Given the description of an element on the screen output the (x, y) to click on. 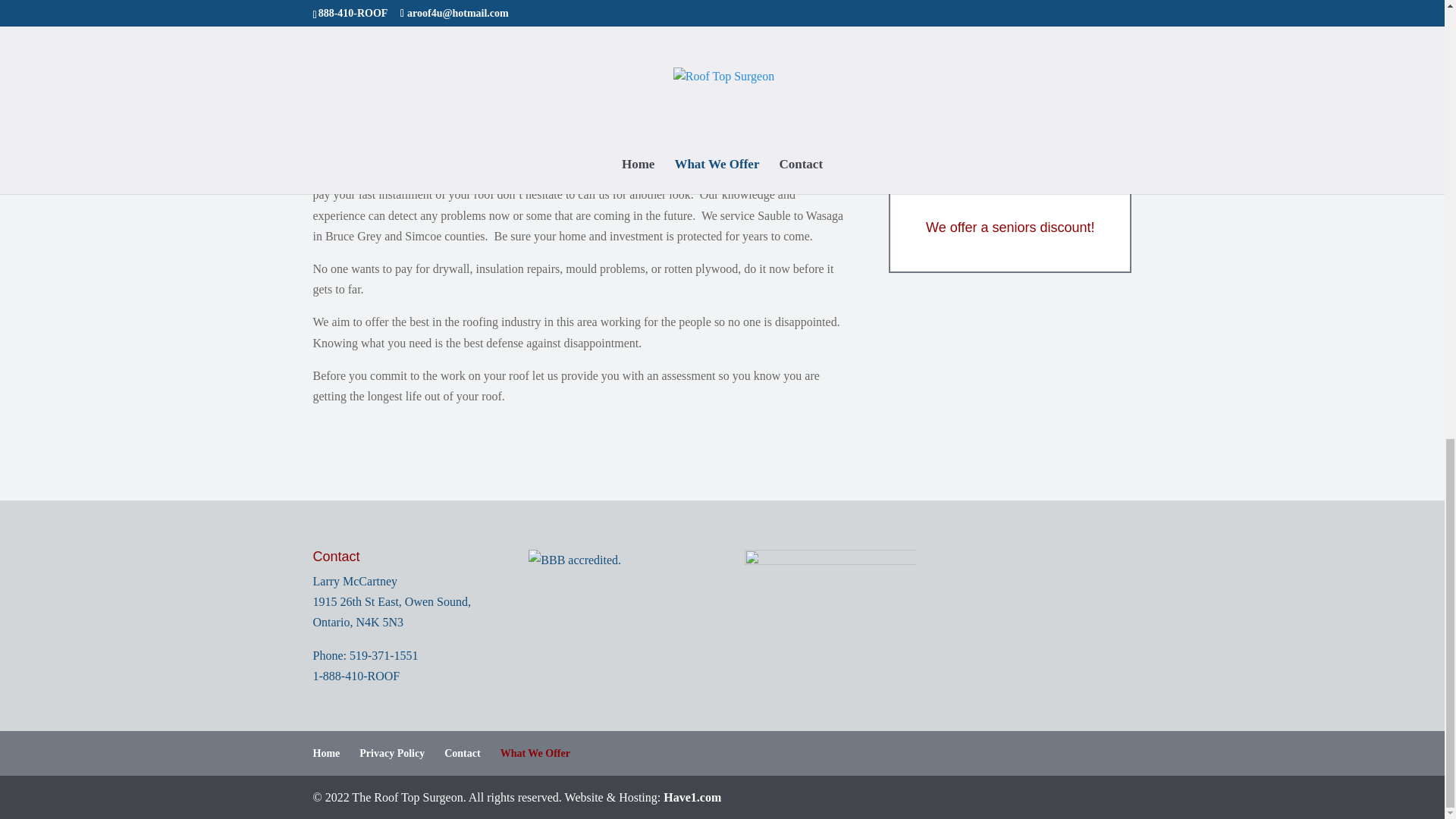
Home (326, 753)
What We Offer (535, 753)
Have1.com (691, 797)
Contact (462, 753)
Privacy Policy (392, 753)
